Given the description of an element on the screen output the (x, y) to click on. 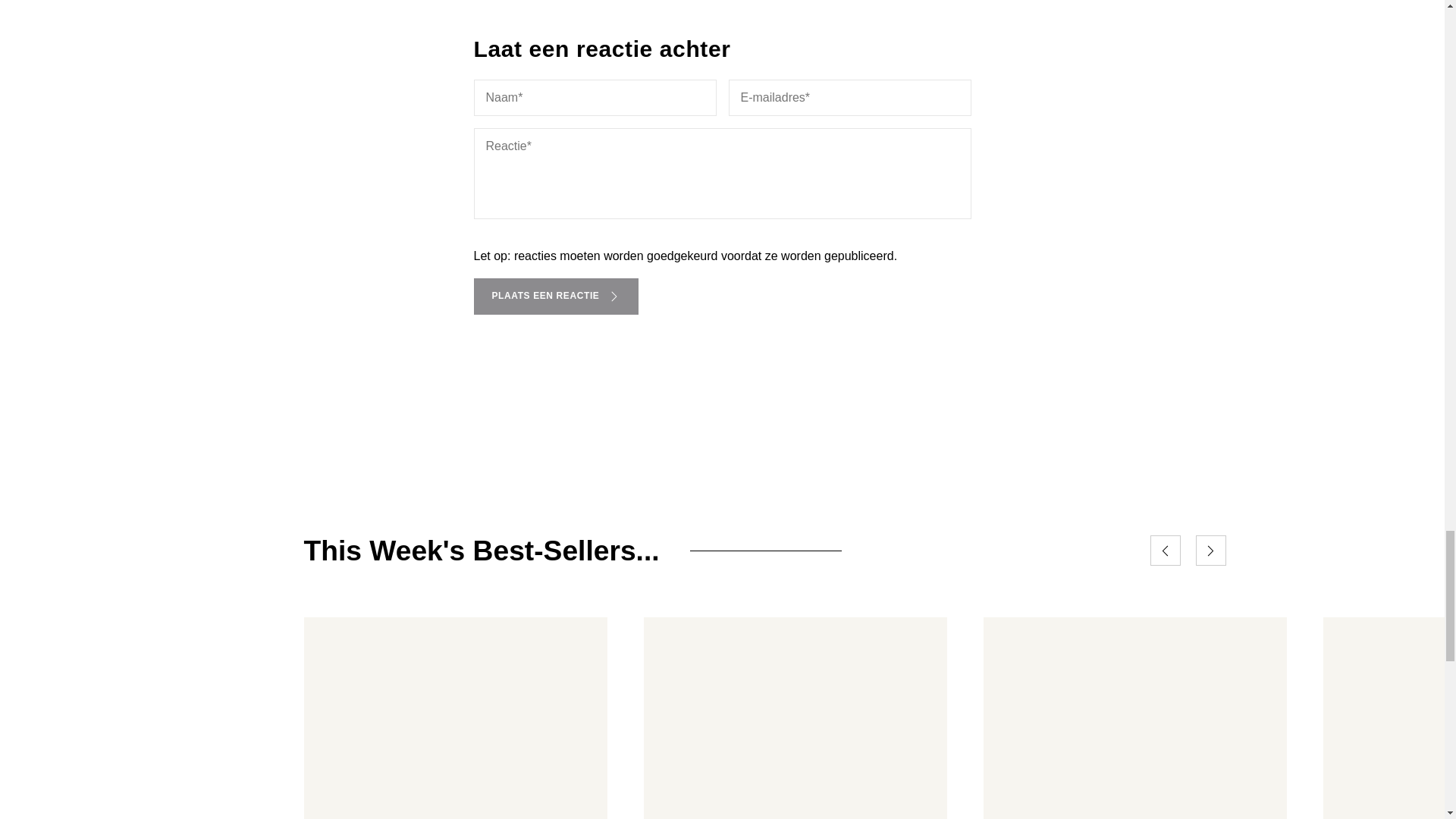
Shirt met basislagen van mesh (454, 718)
Vorige (1164, 550)
Centerline reflecterend jack met ritssluiting (1133, 718)
PLAATS EEN REACTIE (556, 296)
Volgende (1210, 550)
Cameron Cosy Coat - Putty (794, 718)
